Given the description of an element on the screen output the (x, y) to click on. 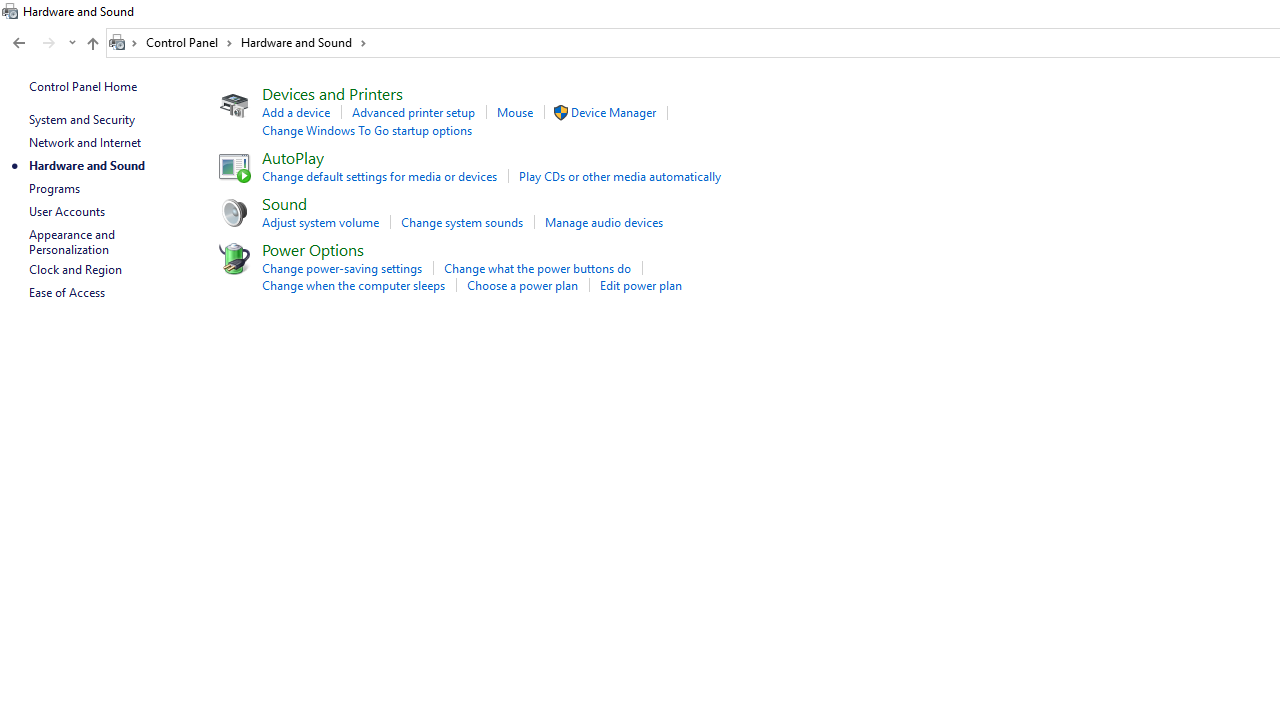
Power Options (312, 249)
System (10, 11)
Change Windows To Go startup options (366, 130)
Advanced printer setup (413, 112)
Choose a power plan (521, 285)
Adjust system volume (320, 222)
Edit power plan (640, 285)
All locations (124, 42)
AutoPlay (292, 156)
Programs (53, 187)
